Given the description of an element on the screen output the (x, y) to click on. 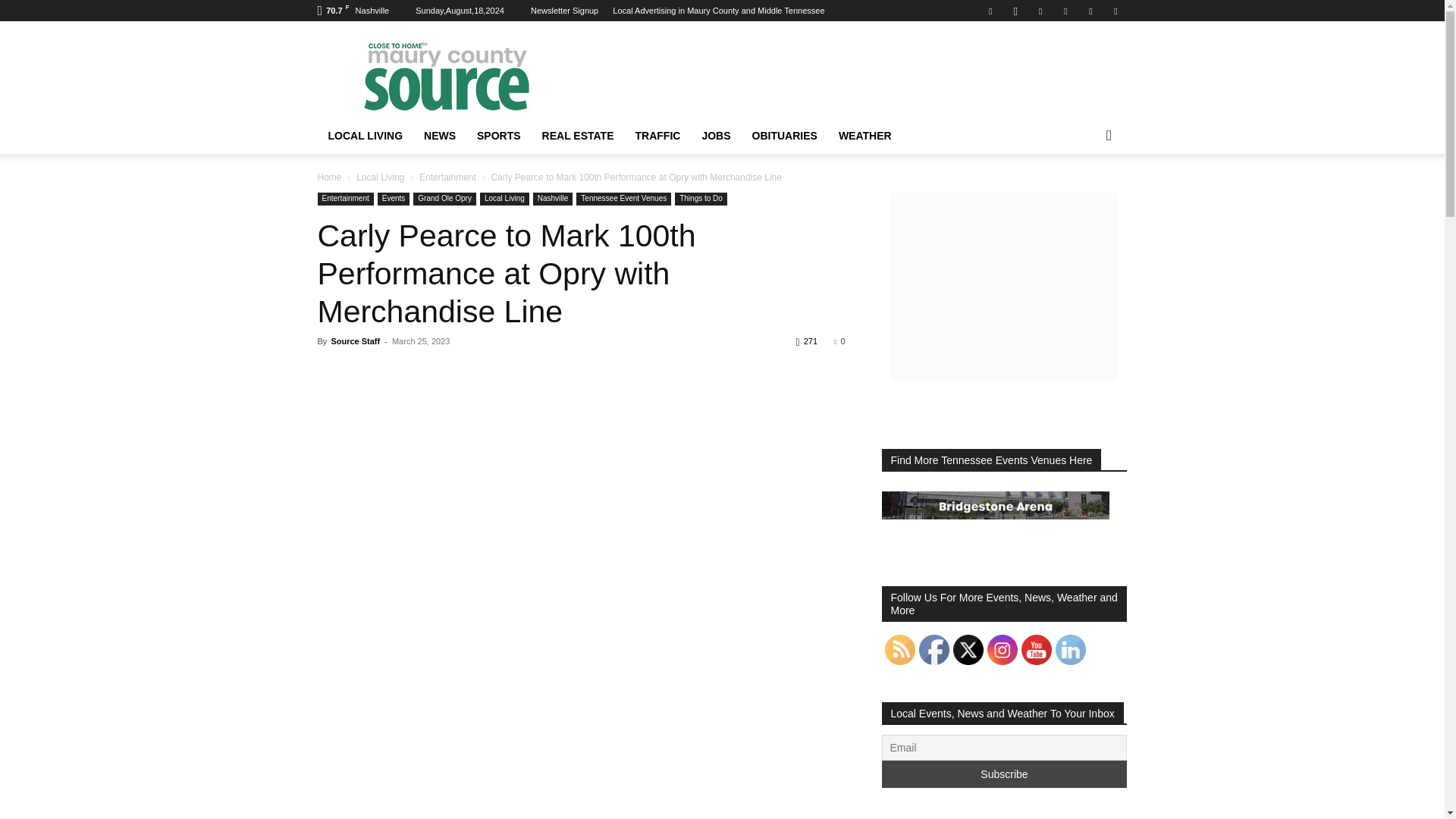
Facebook (989, 10)
Subscribe (1003, 773)
Mail (1040, 10)
Maury County Source (445, 76)
Youtube (1114, 10)
Pinterest (1065, 10)
Twitter (1090, 10)
Instagram (1015, 10)
